Given the description of an element on the screen output the (x, y) to click on. 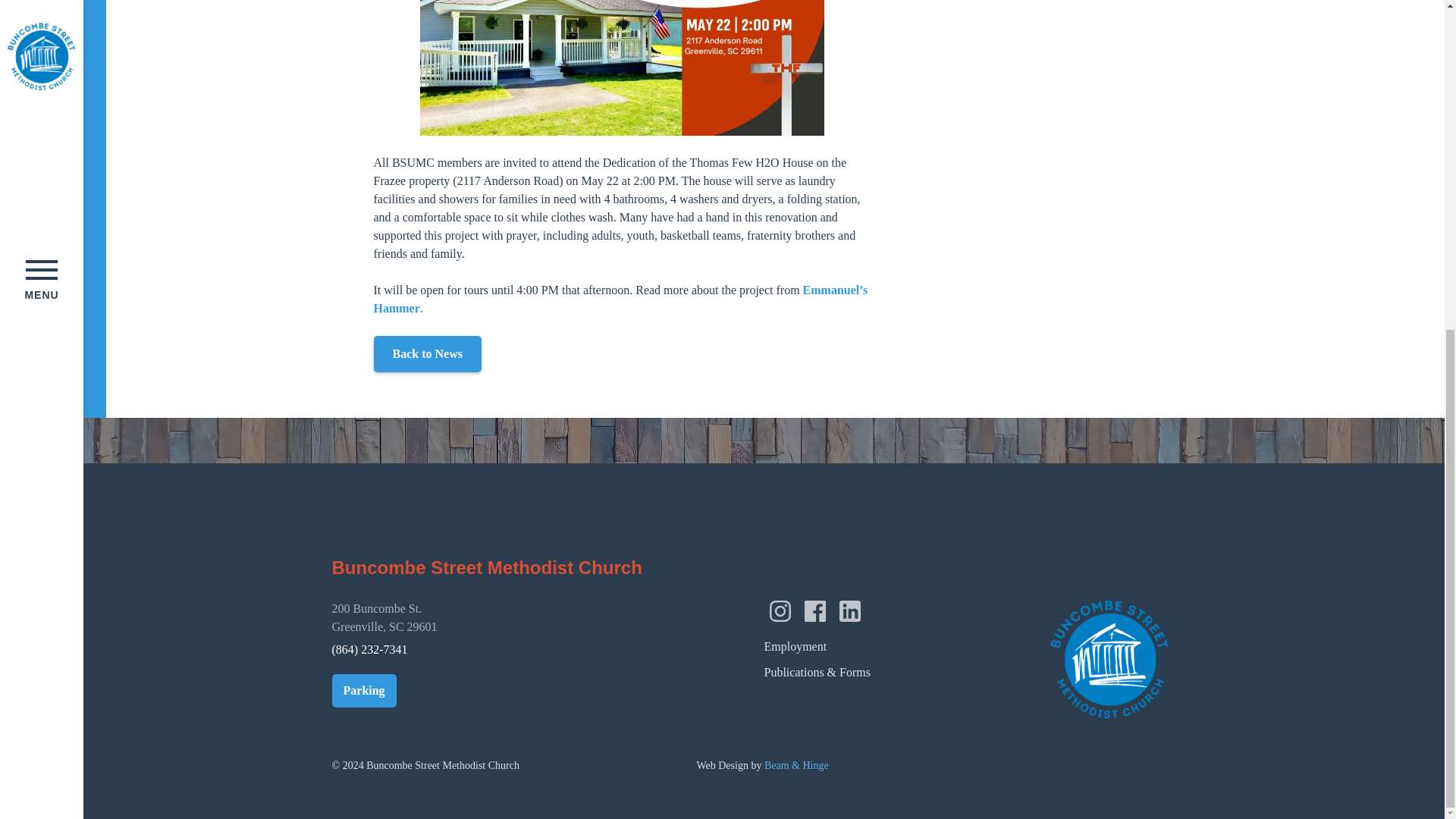
Web development in Columbia, SC (761, 765)
